Given the description of an element on the screen output the (x, y) to click on. 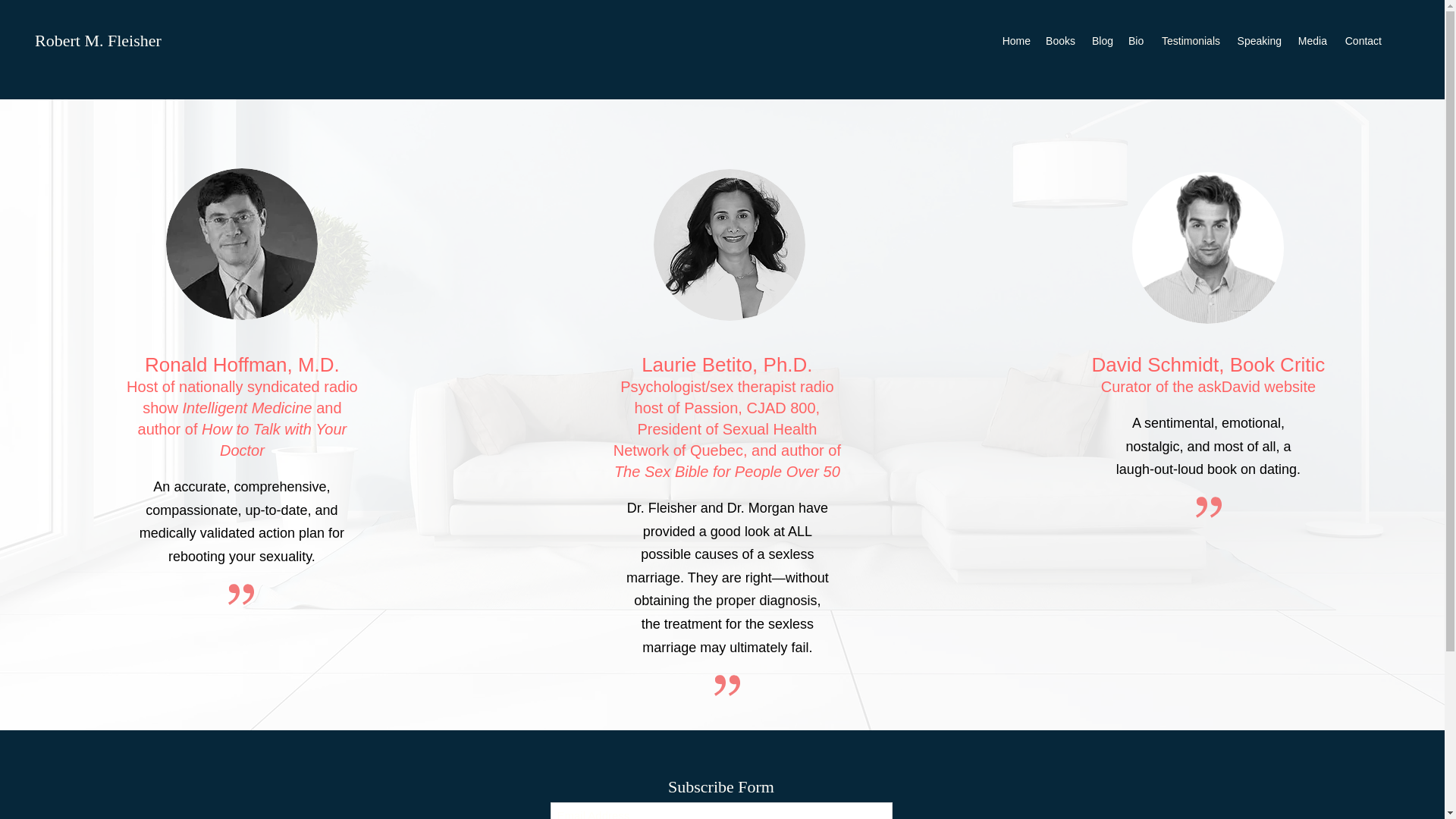
GettyImages-145680711.jpg (1208, 247)
GettyImages-124893619.jpg (729, 244)
Blog (1102, 40)
Media (1311, 40)
GettyImages-535587703.jpg (241, 244)
Speaking (1257, 40)
Books (1060, 40)
Contact (1362, 40)
Testimonials (1189, 40)
Robert M. Fleisher (97, 40)
Home (1015, 40)
Bio (1136, 40)
